Given the description of an element on the screen output the (x, y) to click on. 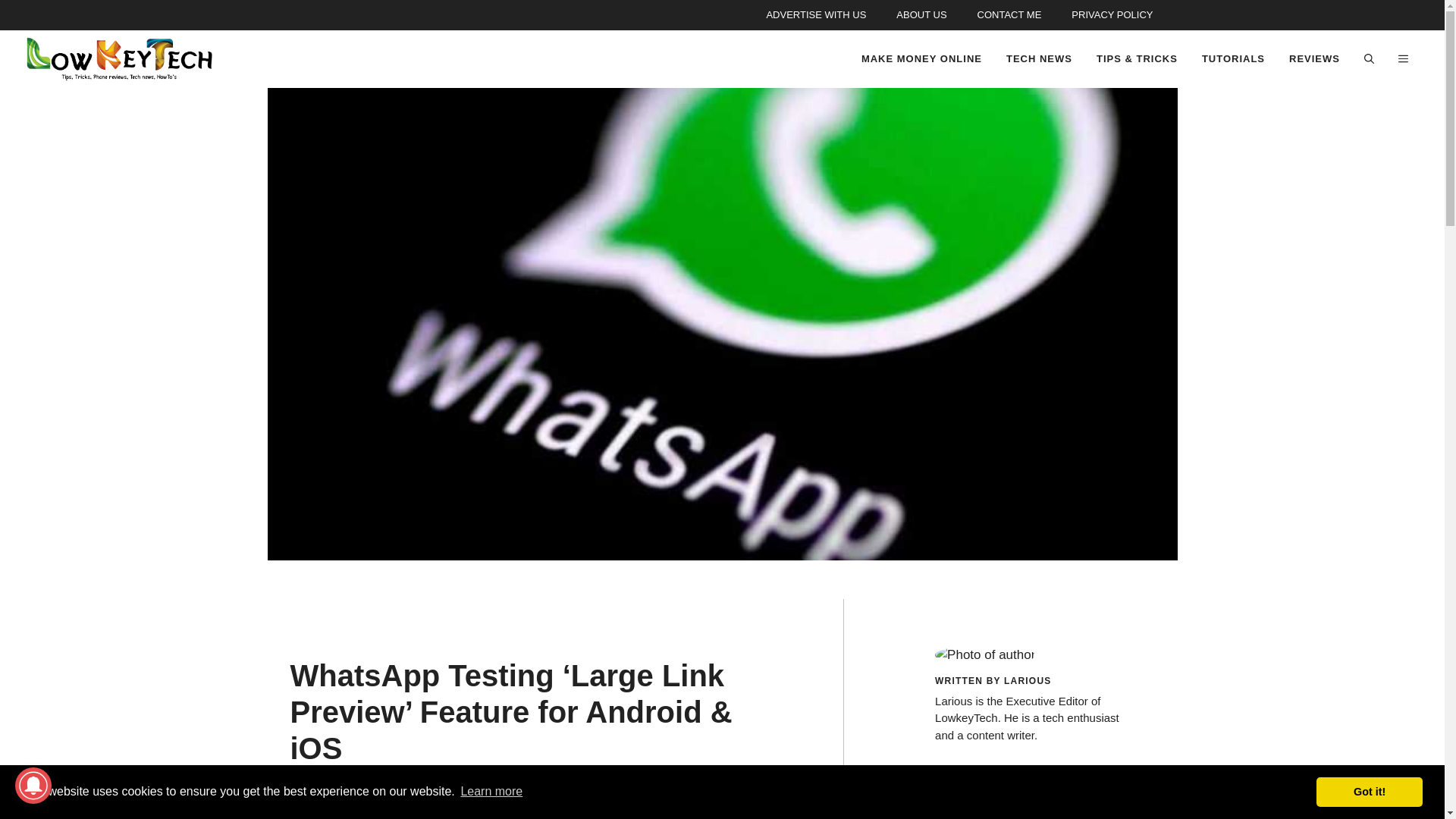
ADVERTISE WITH US (815, 15)
ABOUT US (920, 15)
Learn more (491, 791)
About the site and author (920, 15)
advert placement (815, 15)
MAKE MONEY ONLINE (921, 58)
REVIEWS (1314, 58)
TECH NEWS (1039, 58)
TUTORIALS (1232, 58)
Our privacy policy (1112, 15)
Got it! (1369, 791)
CONTACT ME (1009, 15)
PRIVACY POLICY (1112, 15)
